Given the description of an element on the screen output the (x, y) to click on. 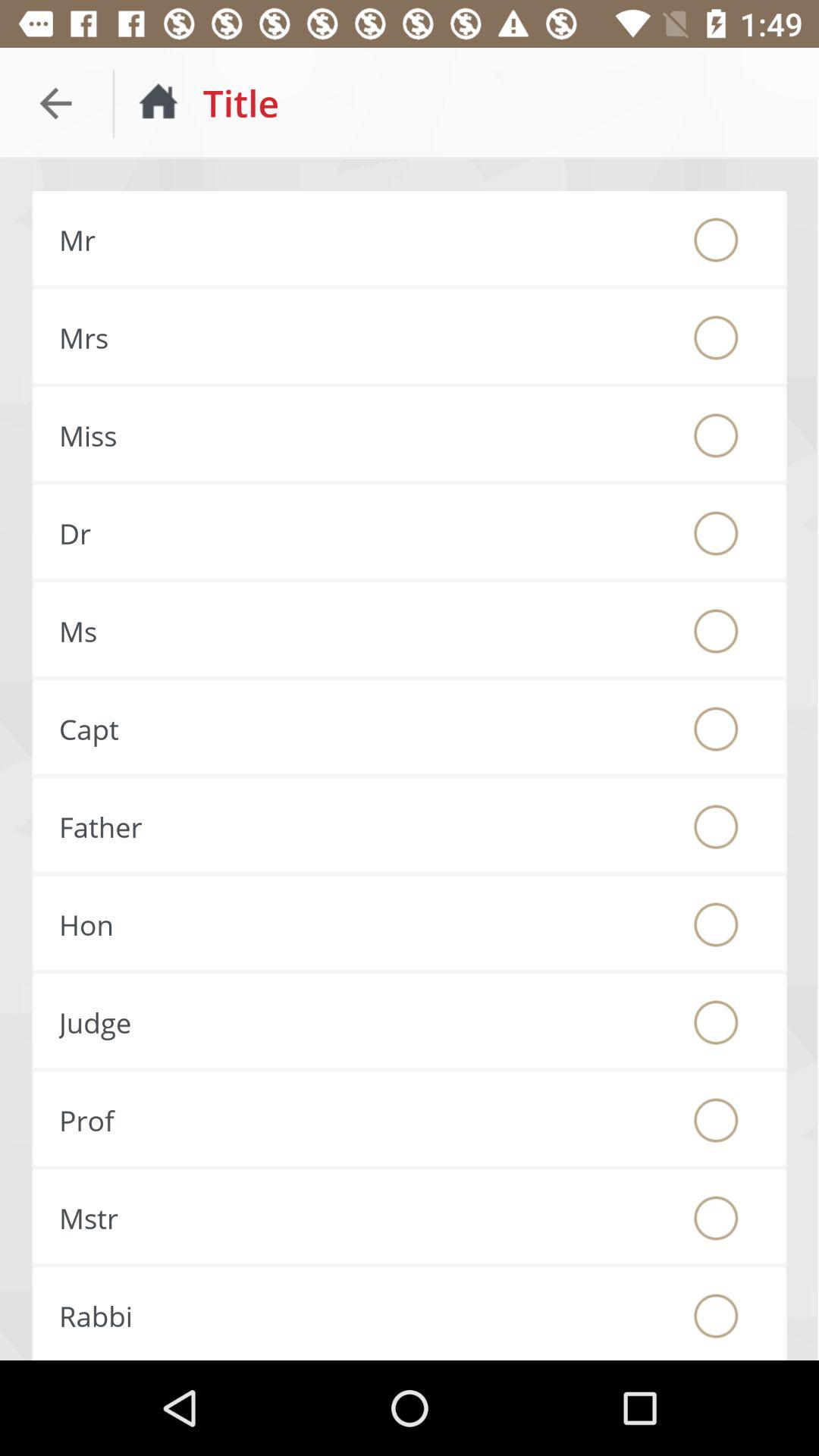
choose title rabbi (715, 1315)
